Given the description of an element on the screen output the (x, y) to click on. 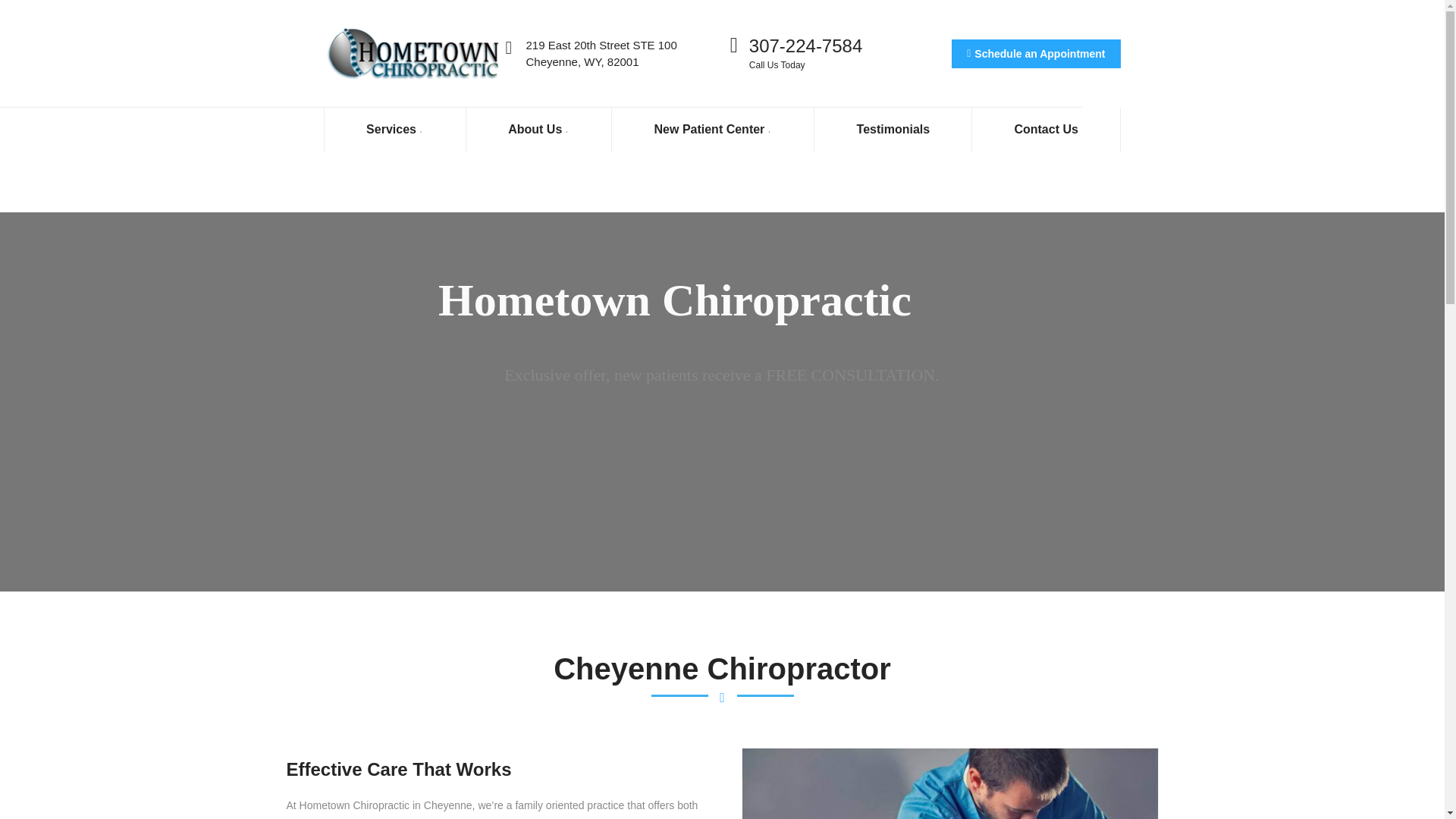
About Us (538, 129)
Schedule an Appointment (1035, 53)
Testimonials (892, 129)
Contact Us (1046, 129)
Services (394, 129)
New Patient Center (712, 129)
